Given the description of an element on the screen output the (x, y) to click on. 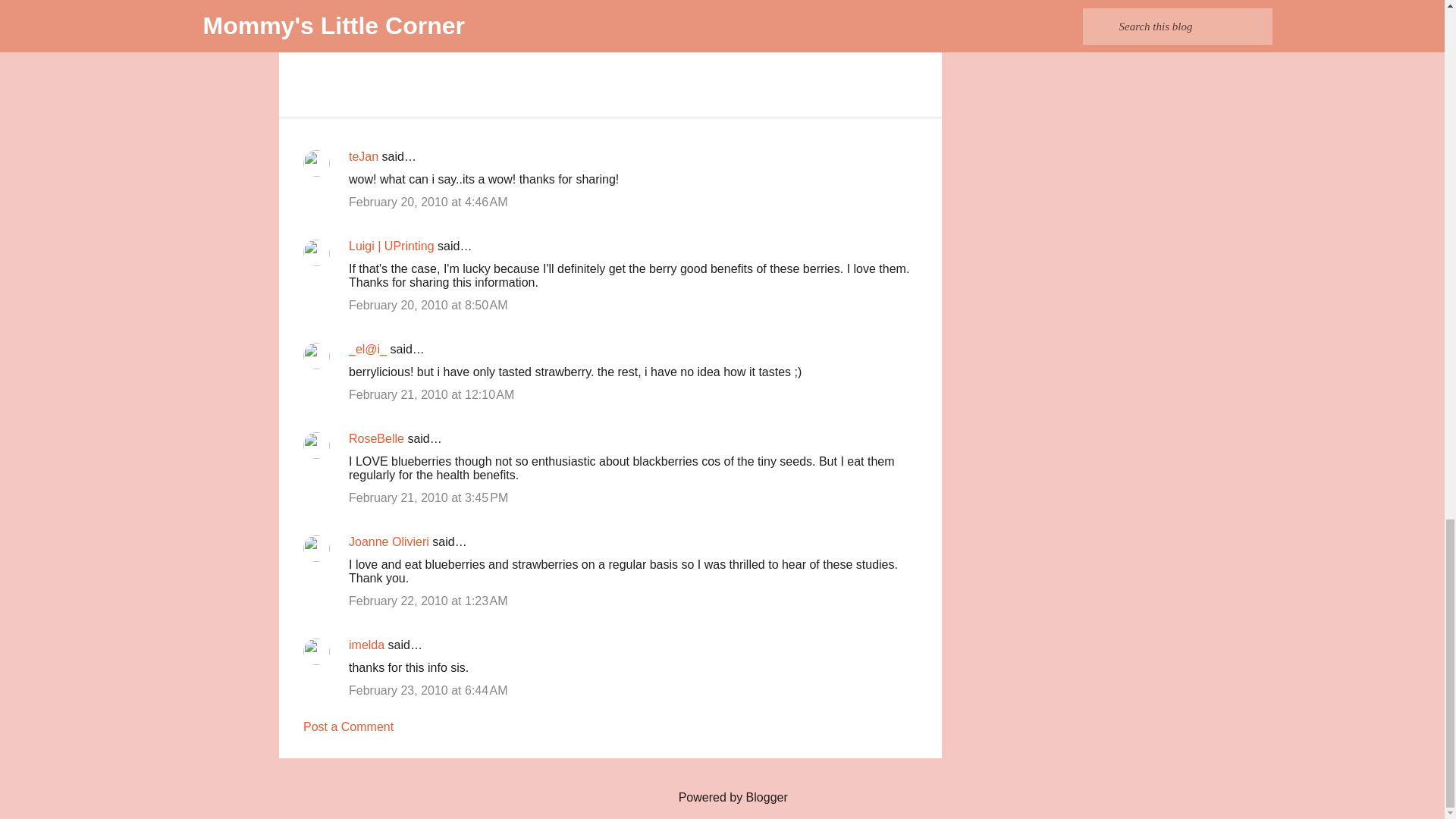
imelda (366, 644)
Joanne Olivieri (389, 541)
RoseBelle (376, 438)
HEALTH BENEFITS (407, 14)
teJan (363, 155)
BERRIES (328, 14)
comment permalink (427, 201)
Post a Comment (347, 726)
PLUMS (481, 14)
